Given the description of an element on the screen output the (x, y) to click on. 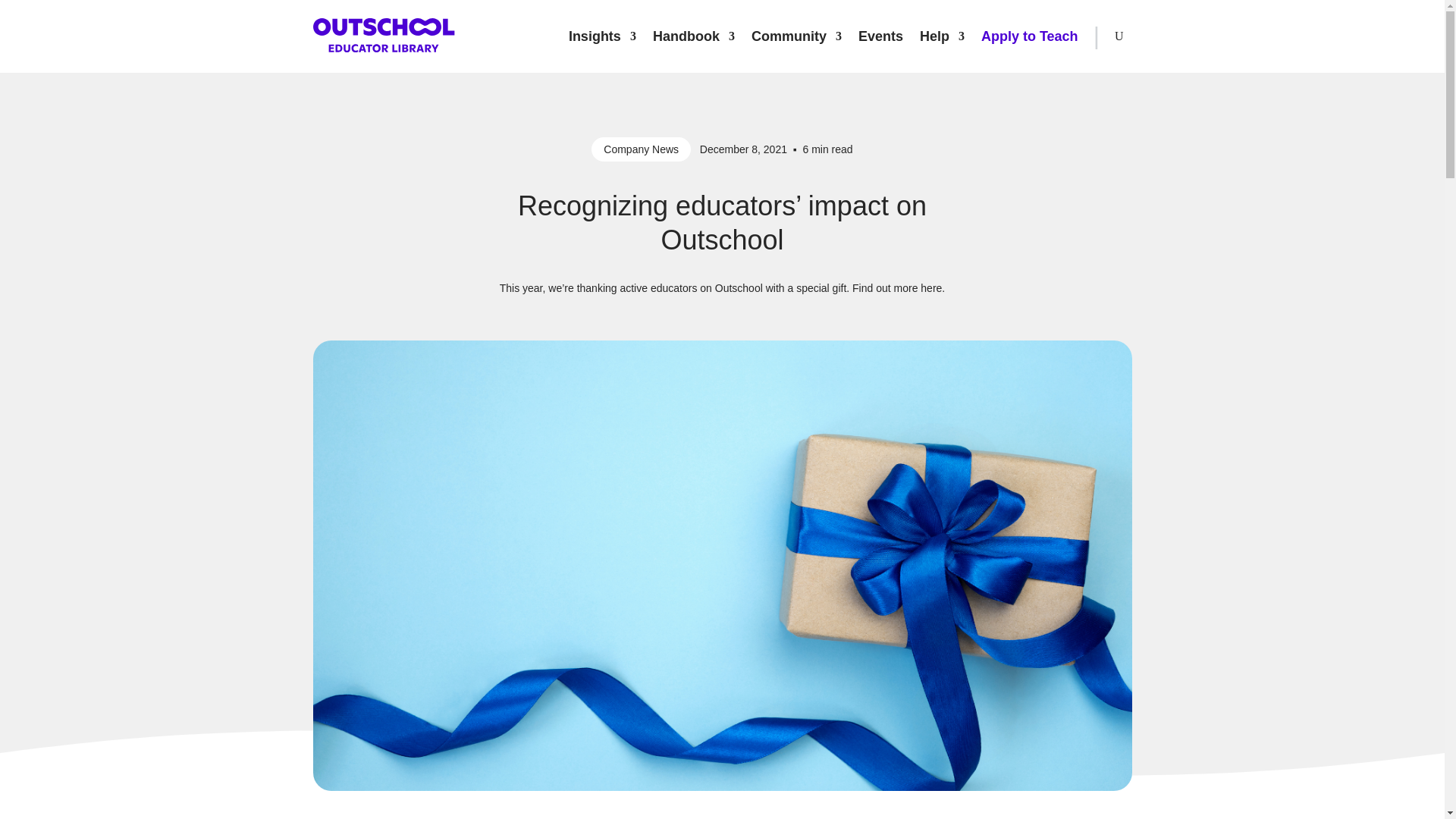
Insights (602, 36)
Community (796, 36)
Apply to Teach (1029, 36)
Handbook (693, 36)
